Given the description of an element on the screen output the (x, y) to click on. 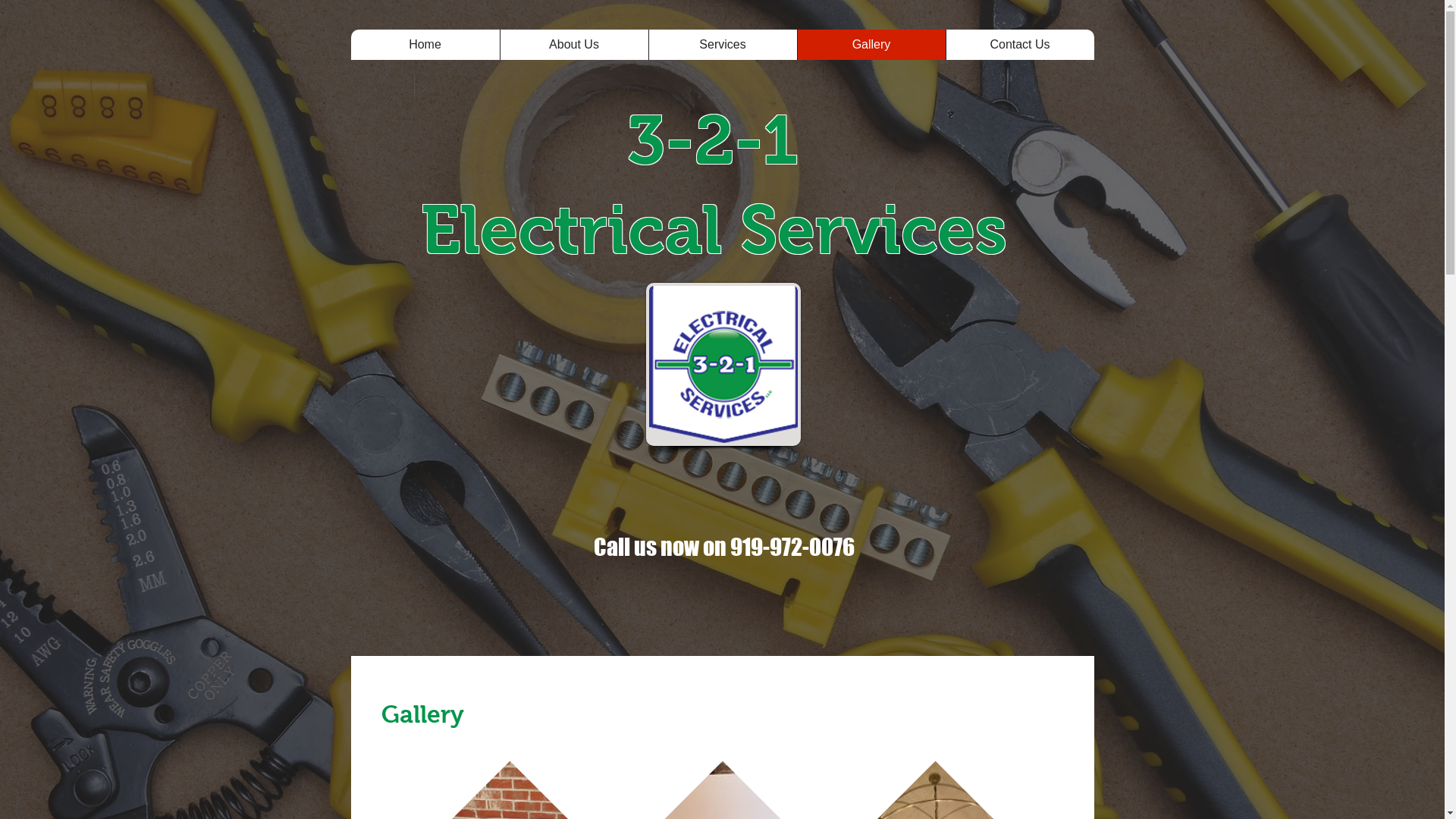
Contact Us Element type: text (434, 52)
3-2-1  Element type: text (720, 140)
Services Element type: text (427, 49)
About Us Element type: text (425, 47)
Electrical Services Element type: text (713, 229)
Gallery Element type: text (431, 50)
Home Element type: text (424, 44)
